Given the description of an element on the screen output the (x, y) to click on. 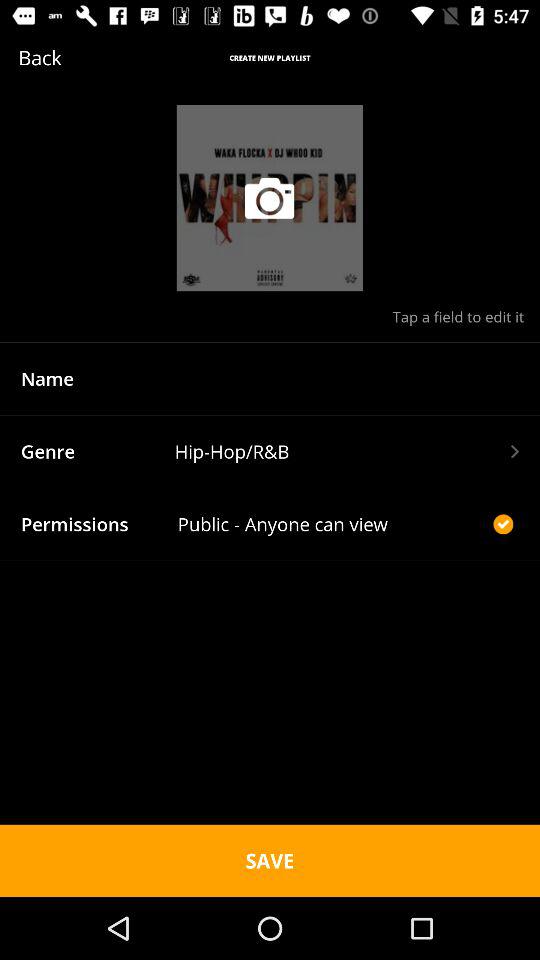
press the icon next to the public anyone can item (503, 524)
